Given the description of an element on the screen output the (x, y) to click on. 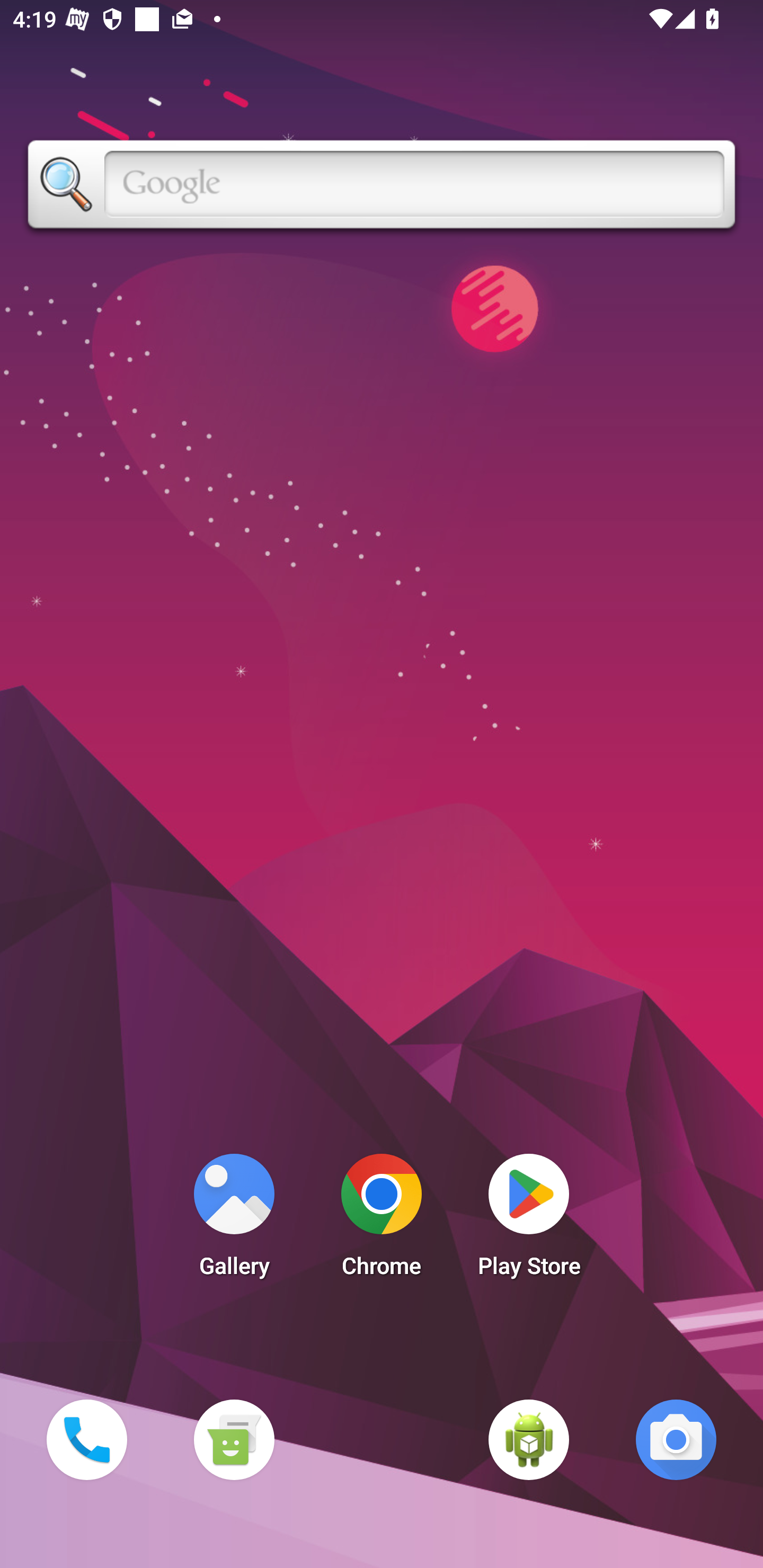
Gallery (233, 1220)
Chrome (381, 1220)
Play Store (528, 1220)
Phone (86, 1439)
Messaging (233, 1439)
WebView Browser Tester (528, 1439)
Camera (676, 1439)
